Given the description of an element on the screen output the (x, y) to click on. 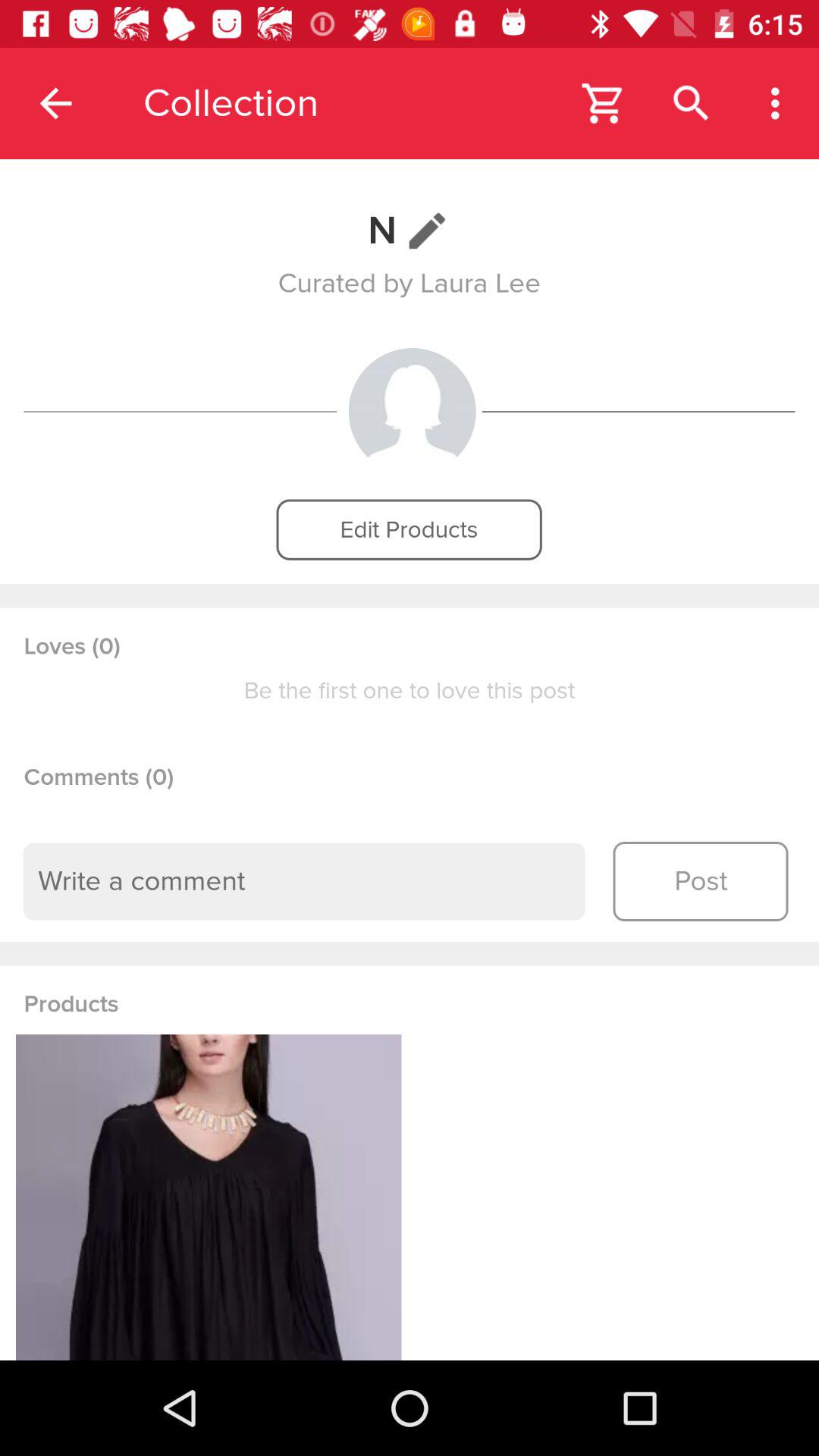
flip until the edit products icon (409, 529)
